Given the description of an element on the screen output the (x, y) to click on. 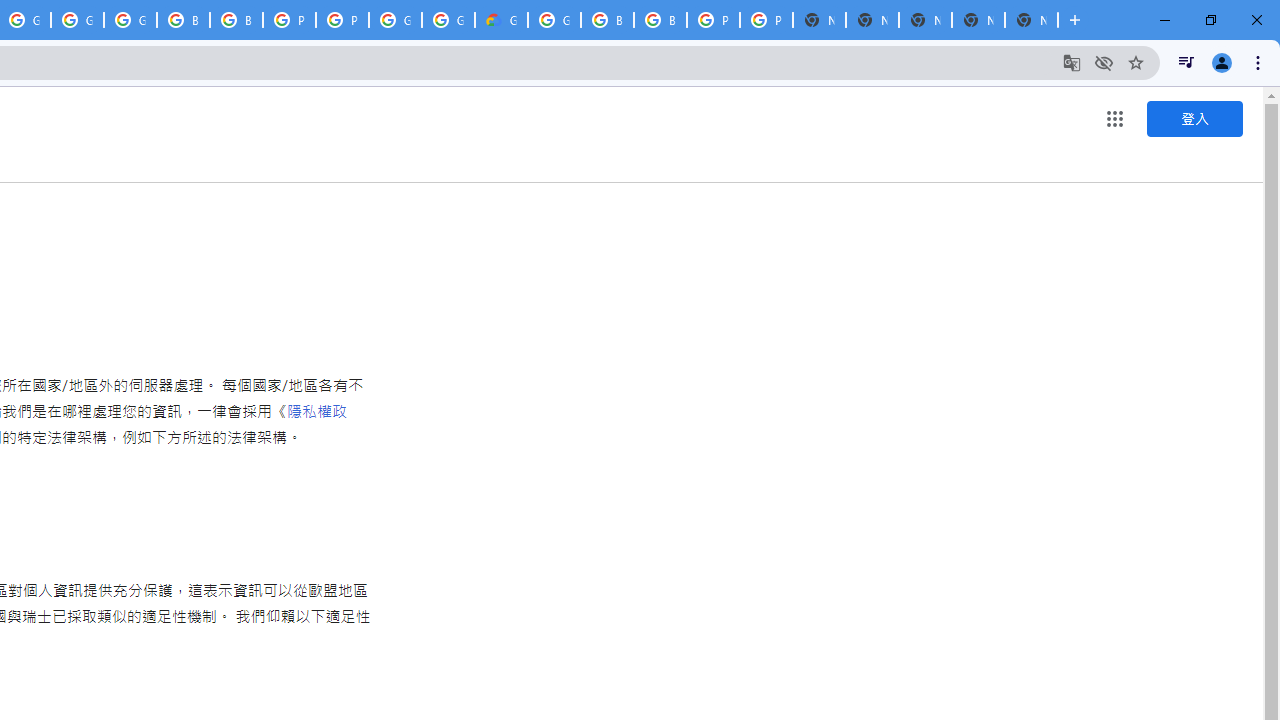
New Tab (1031, 20)
Translate this page (1071, 62)
Browse Chrome as a guest - Computer - Google Chrome Help (183, 20)
Google Cloud Platform (448, 20)
Browse Chrome as a guest - Computer - Google Chrome Help (607, 20)
Google Cloud Estimate Summary (501, 20)
Google Cloud Platform (395, 20)
